Given the description of an element on the screen output the (x, y) to click on. 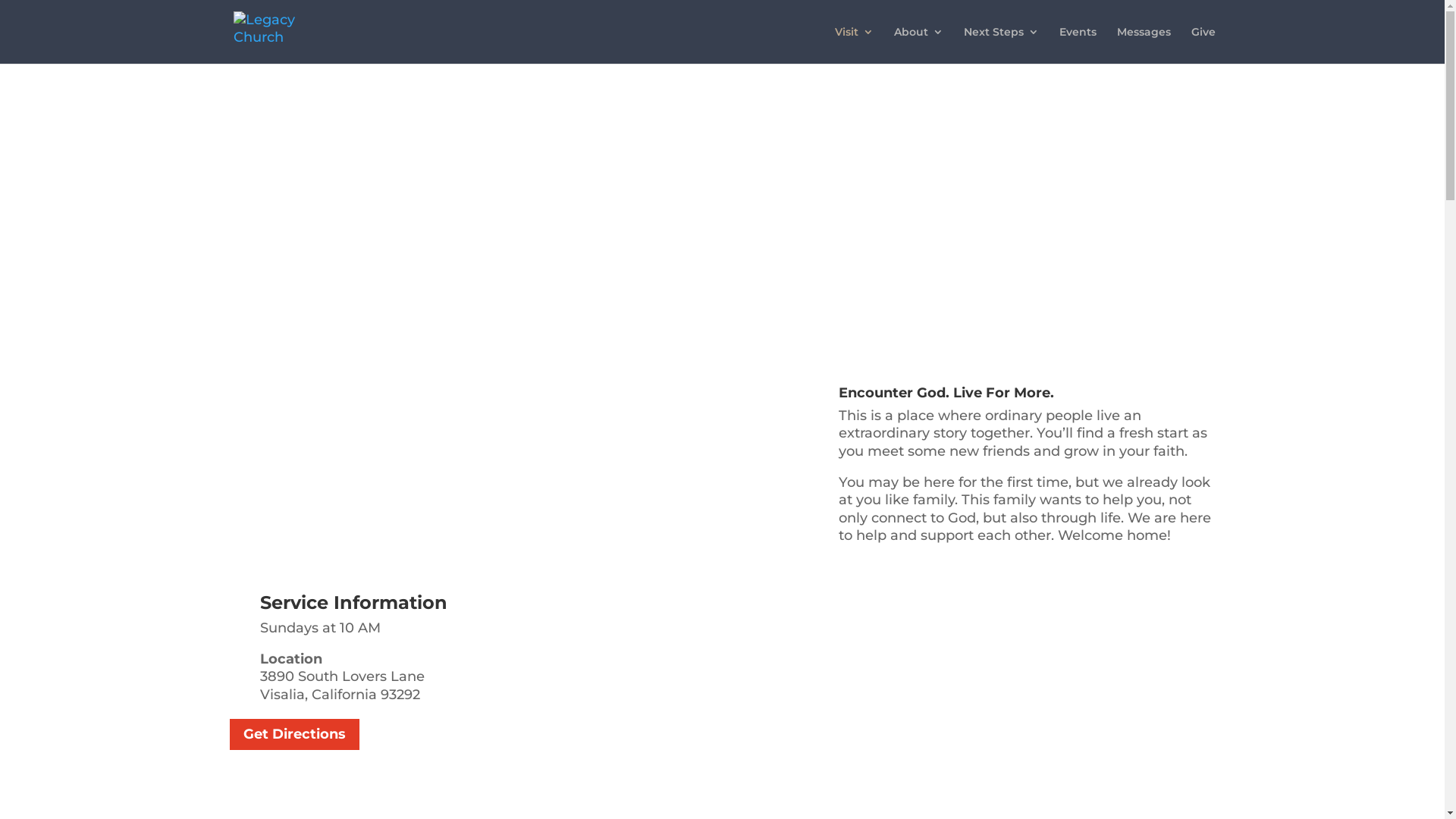
Events Element type: text (1076, 44)
Visit Element type: text (853, 44)
About Element type: text (917, 44)
Get Directions Element type: text (293, 733)
Next Steps Element type: text (1000, 44)
Messages Element type: text (1143, 44)
Give Element type: text (1202, 44)
